Given the description of an element on the screen output the (x, y) to click on. 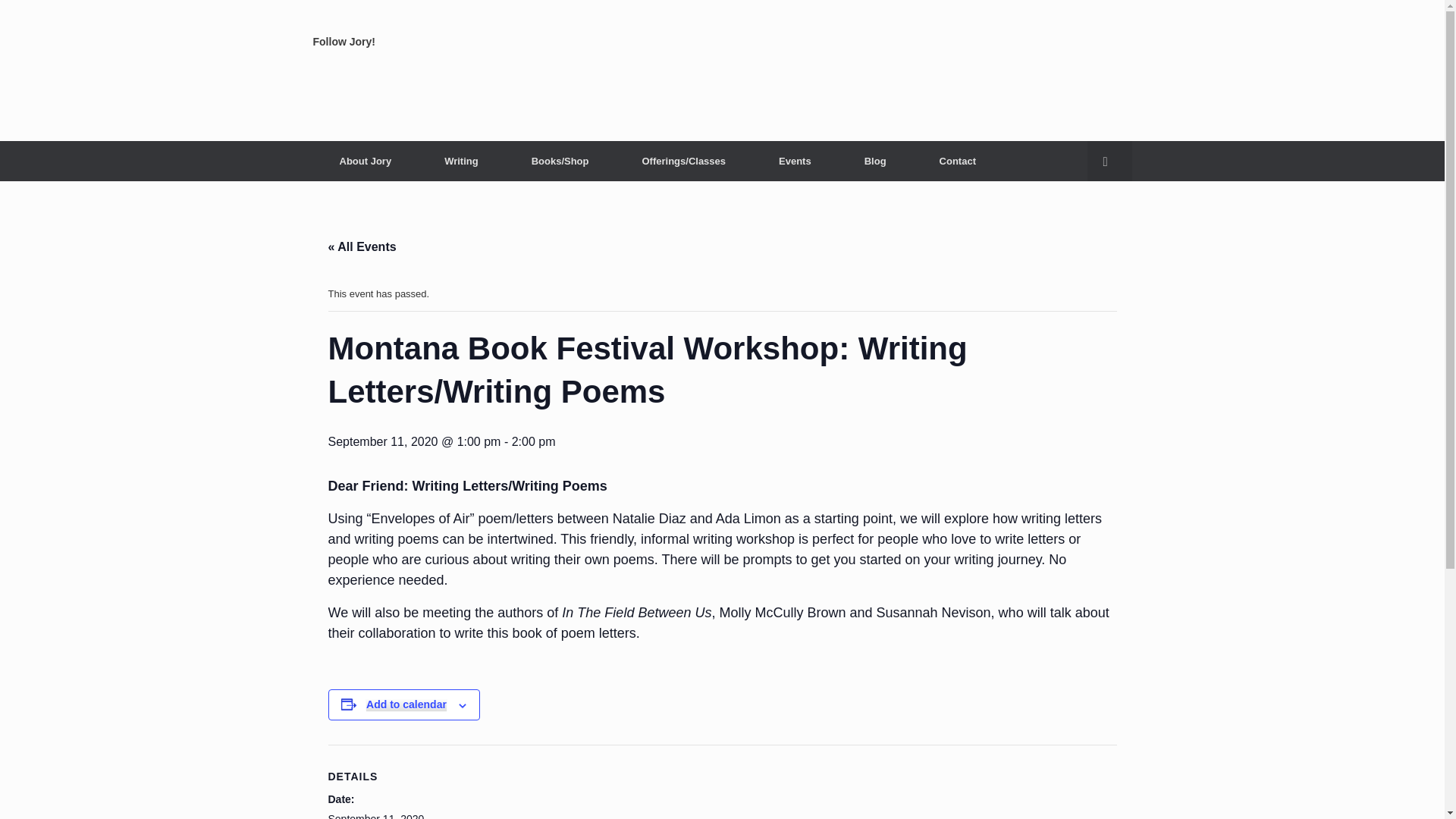
About Jory (365, 160)
2020-09-11 (375, 816)
Facebook (370, 83)
Contact (957, 160)
Twitter (409, 83)
Events (795, 160)
Writing (461, 160)
Instagram (331, 83)
Blog (875, 160)
Add to calendar (406, 704)
